Given the description of an element on the screen output the (x, y) to click on. 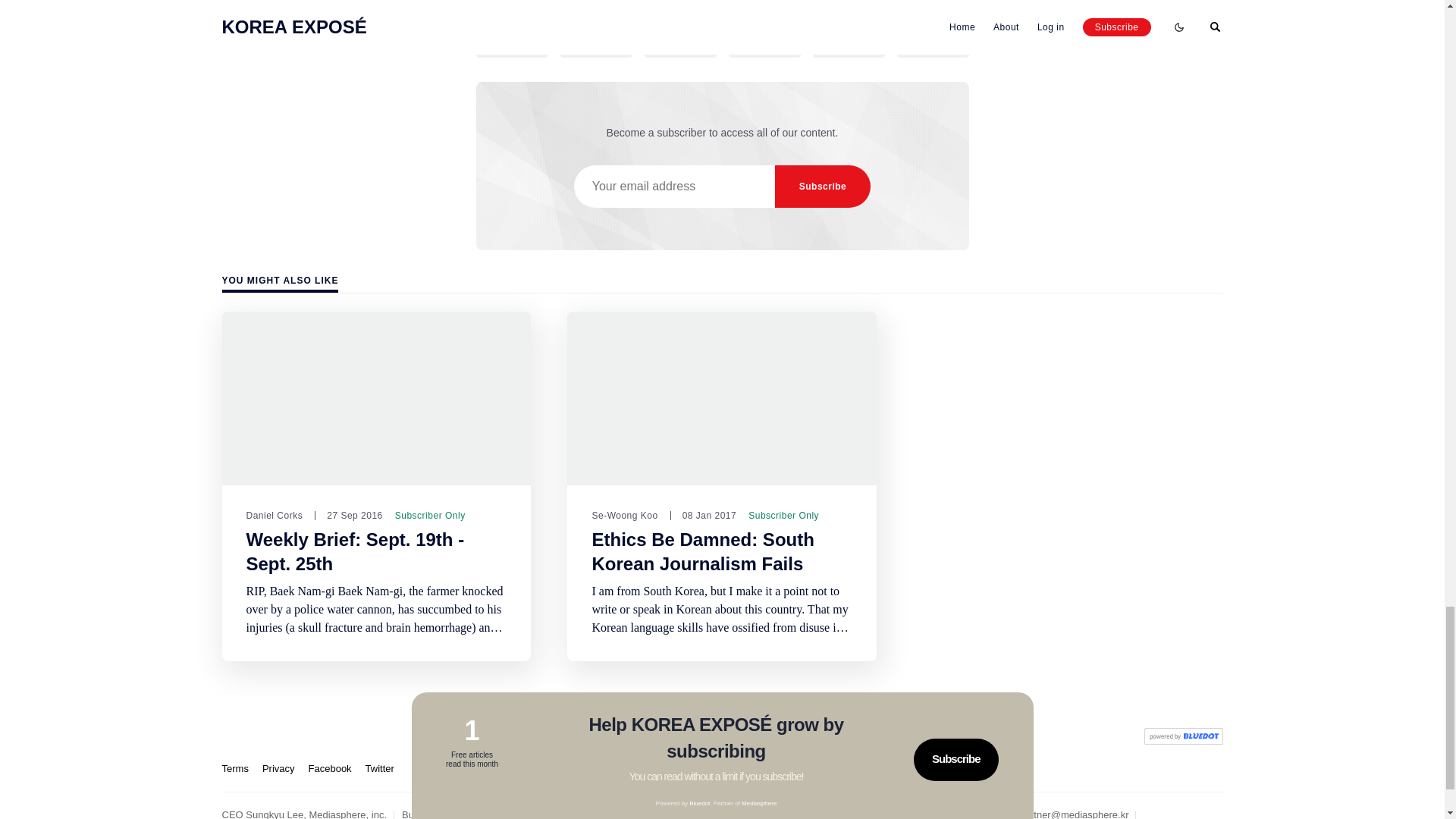
south korean politics (661, 10)
South Korean president (815, 10)
Weekly Brief: Sept. 19th - Sept. 25th (355, 551)
Park Geun-hye (528, 10)
Share on LinkedIn (680, 50)
Share on Twitter (512, 50)
Copy link (932, 50)
Daniel Corks (274, 515)
Share on Pinterest (763, 50)
Share via Email (848, 50)
